Given the description of an element on the screen output the (x, y) to click on. 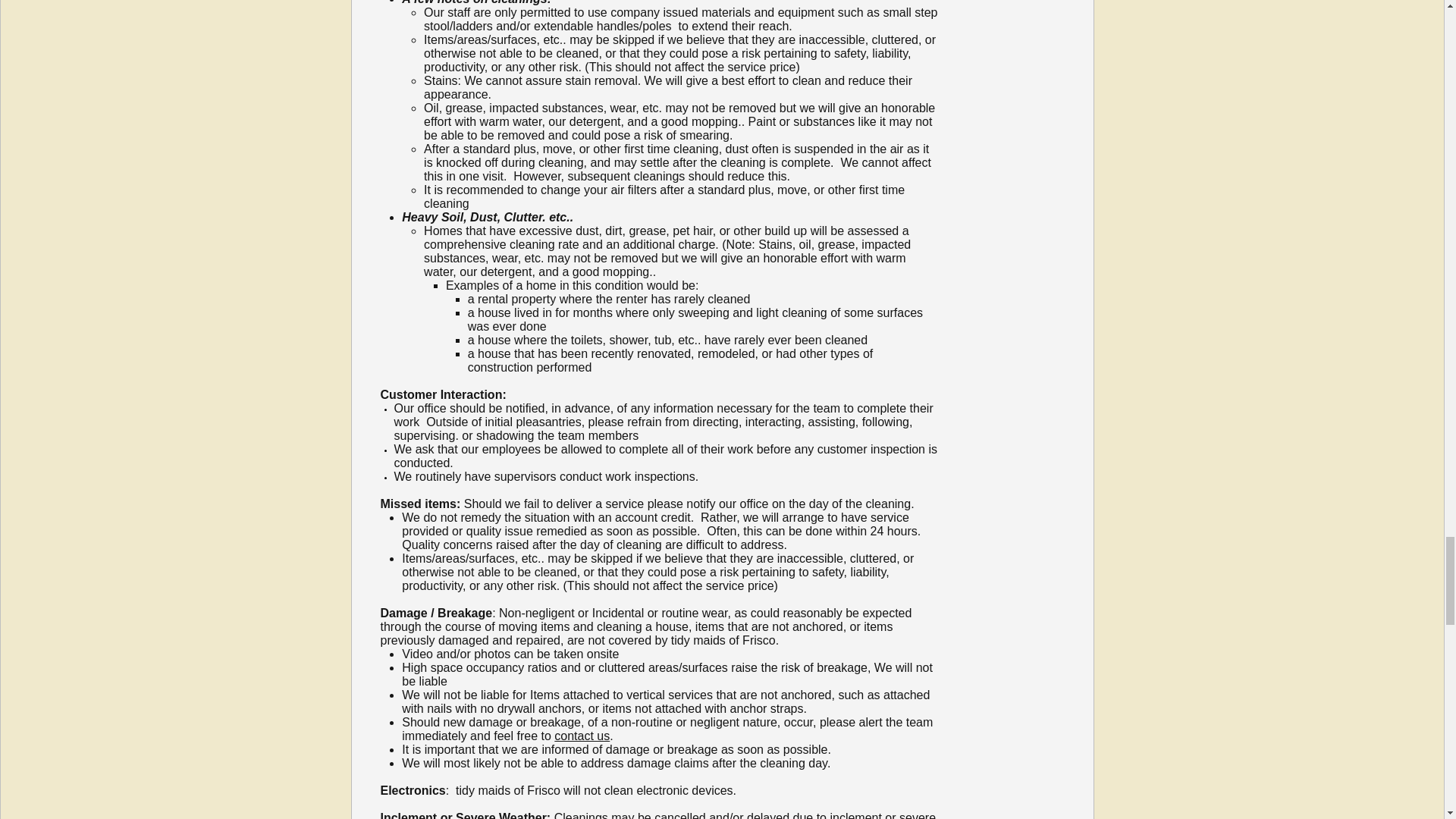
contact us (582, 735)
